Given the description of an element on the screen output the (x, y) to click on. 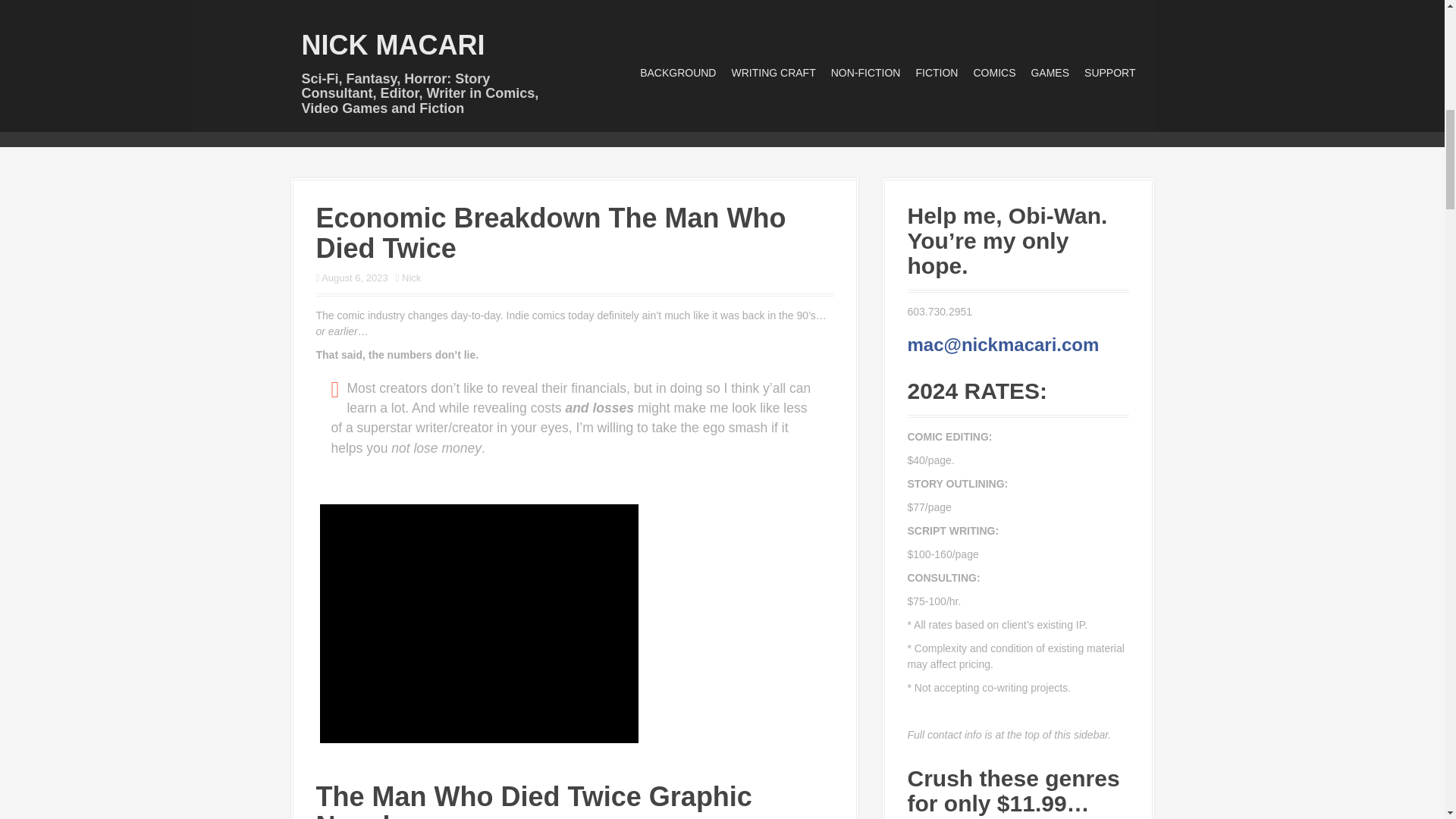
Nick (410, 277)
COMICS (993, 73)
FICTION (936, 73)
GAMES (1049, 73)
BACKGROUND (678, 73)
NICK MACARI (392, 44)
WRITING CRAFT (772, 73)
August 6, 2023 (354, 277)
SUPPORT (1109, 73)
NON-FICTION (866, 73)
